Given the description of an element on the screen output the (x, y) to click on. 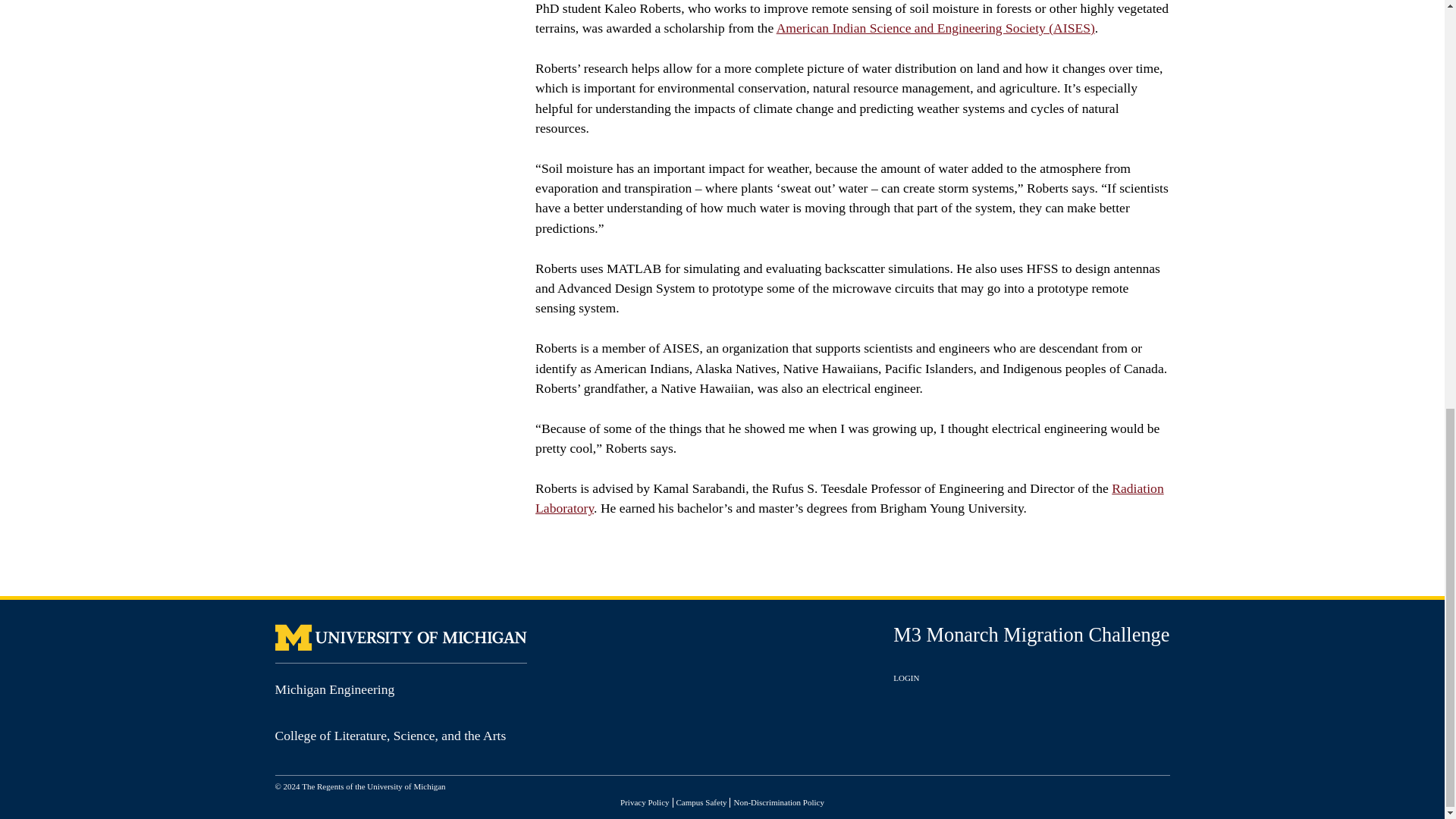
Campus Safety (701, 801)
College of Literature, Science, and the Arts (390, 735)
Non-Discrimination Policy (778, 801)
Michigan Engineering (334, 688)
M3 Monarch Migration Challenge (1031, 634)
LOGIN (905, 677)
Privacy Policy (644, 801)
Radiation Laboratory (849, 497)
The Regents of the University of Michigan (373, 786)
